Given the description of an element on the screen output the (x, y) to click on. 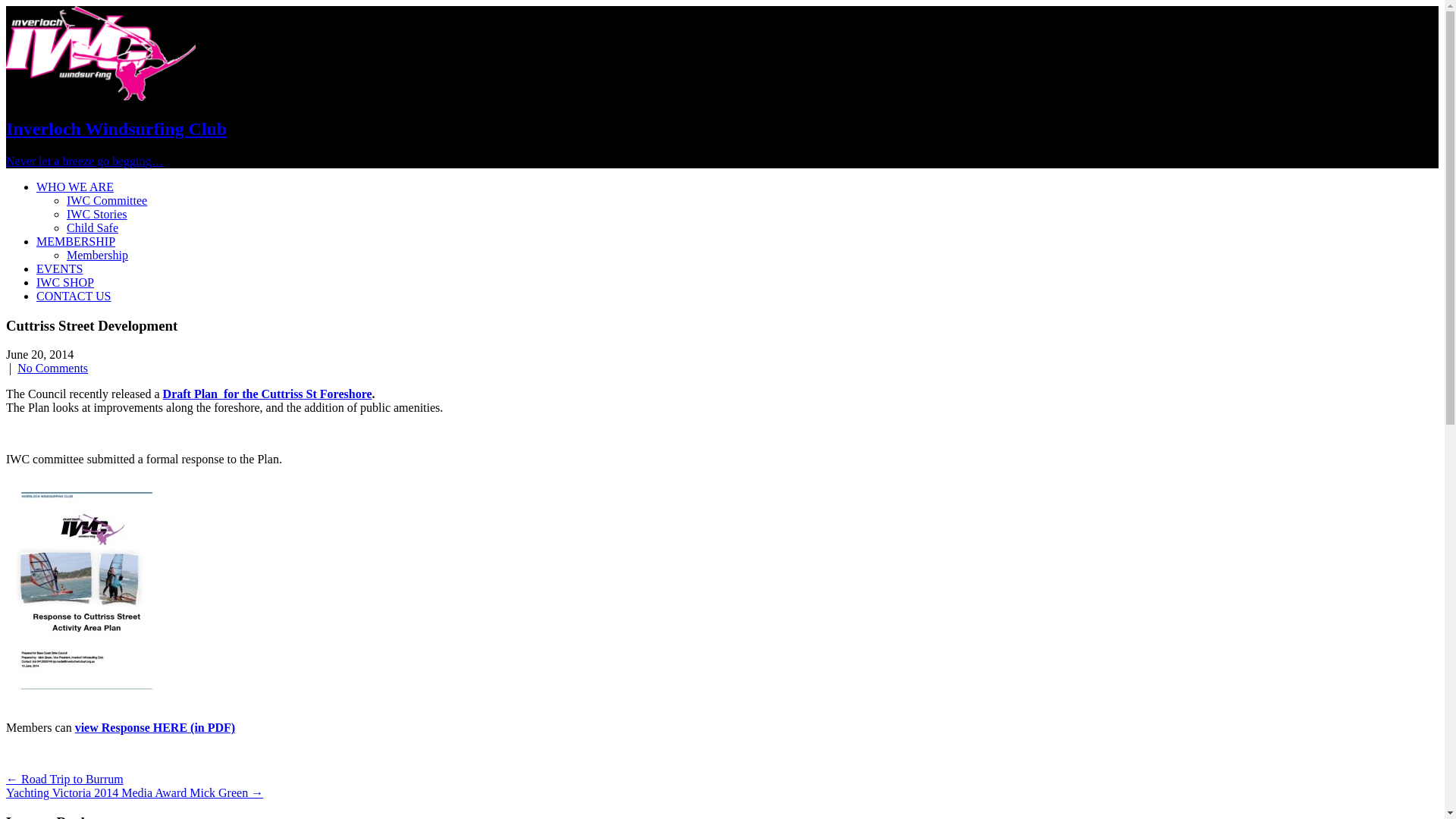
Membership Element type: text (97, 254)
CONTACT US Element type: text (73, 295)
EVENTS Element type: text (59, 268)
WHO WE ARE Element type: text (74, 186)
Child Safe Element type: text (92, 227)
No Comments Element type: text (52, 367)
MEMBERSHIP Element type: text (75, 241)
IWC Stories Element type: text (96, 213)
view Response HERE (in PDF) Element type: text (155, 727)
Draft Plan  for the Cuttriss St Foreshore Element type: text (267, 393)
IWC SHOP Element type: text (65, 282)
IWC Committee Element type: text (106, 200)
